Given the description of an element on the screen output the (x, y) to click on. 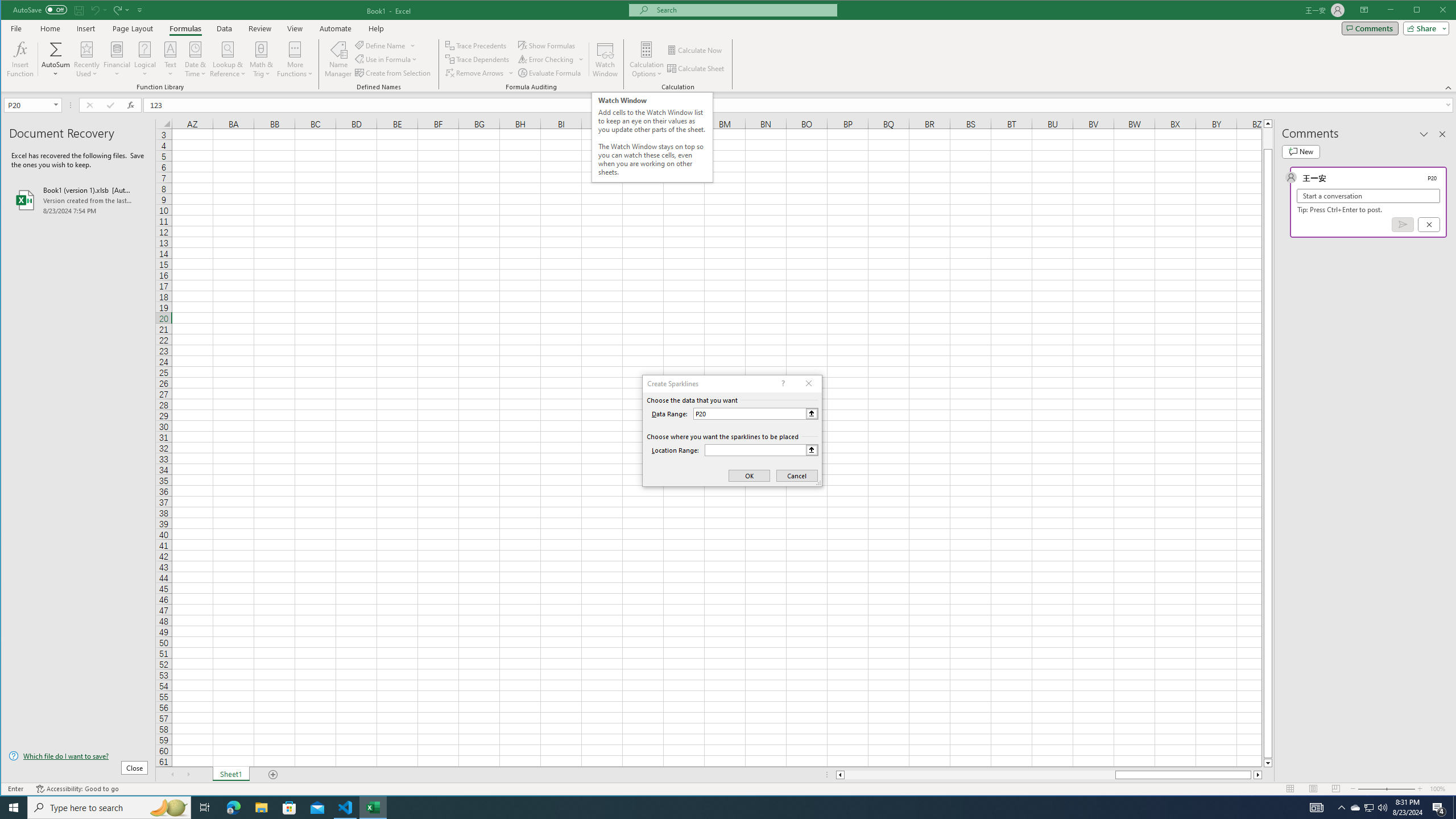
Cancel (1428, 224)
Error Checking... (551, 59)
Insert Function... (19, 59)
Post comment (Ctrl + Enter) (1402, 224)
Math & Trig (261, 59)
